Given the description of an element on the screen output the (x, y) to click on. 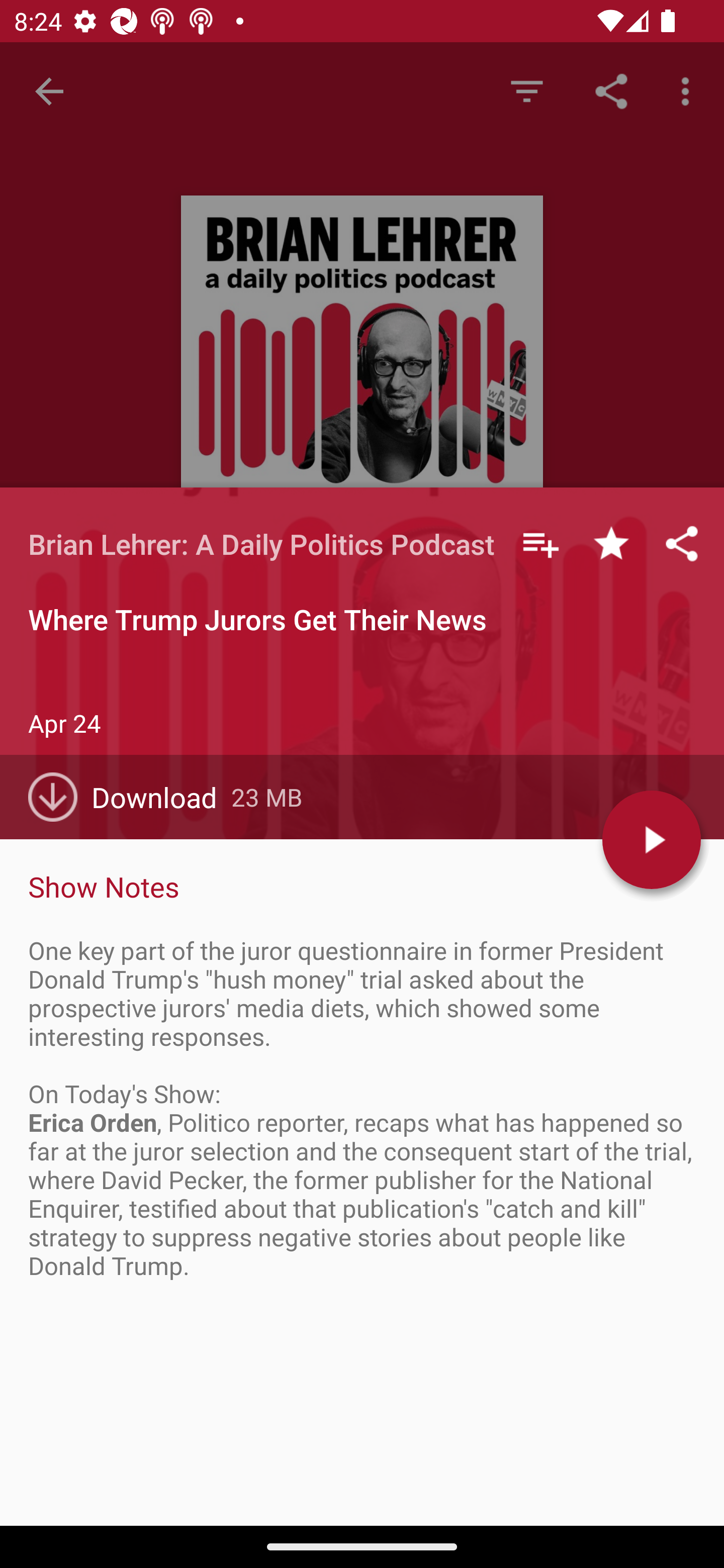
Download (129, 797)
